Given the description of an element on the screen output the (x, y) to click on. 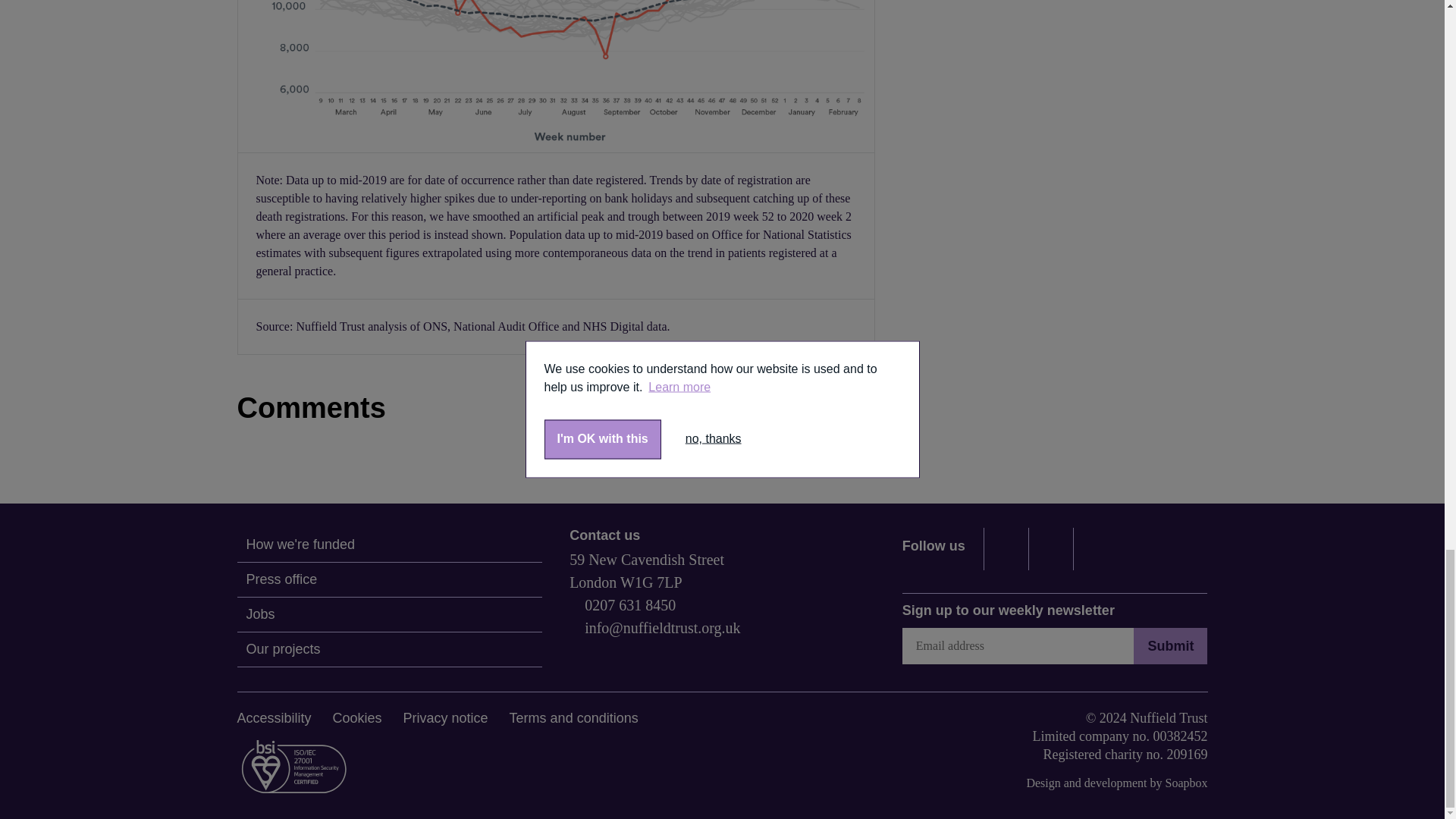
Go to the Nuffield Trust's LinkedIn profile (1051, 548)
Subscribe to newsletter (1018, 646)
Submit (1170, 646)
